Given the description of an element on the screen output the (x, y) to click on. 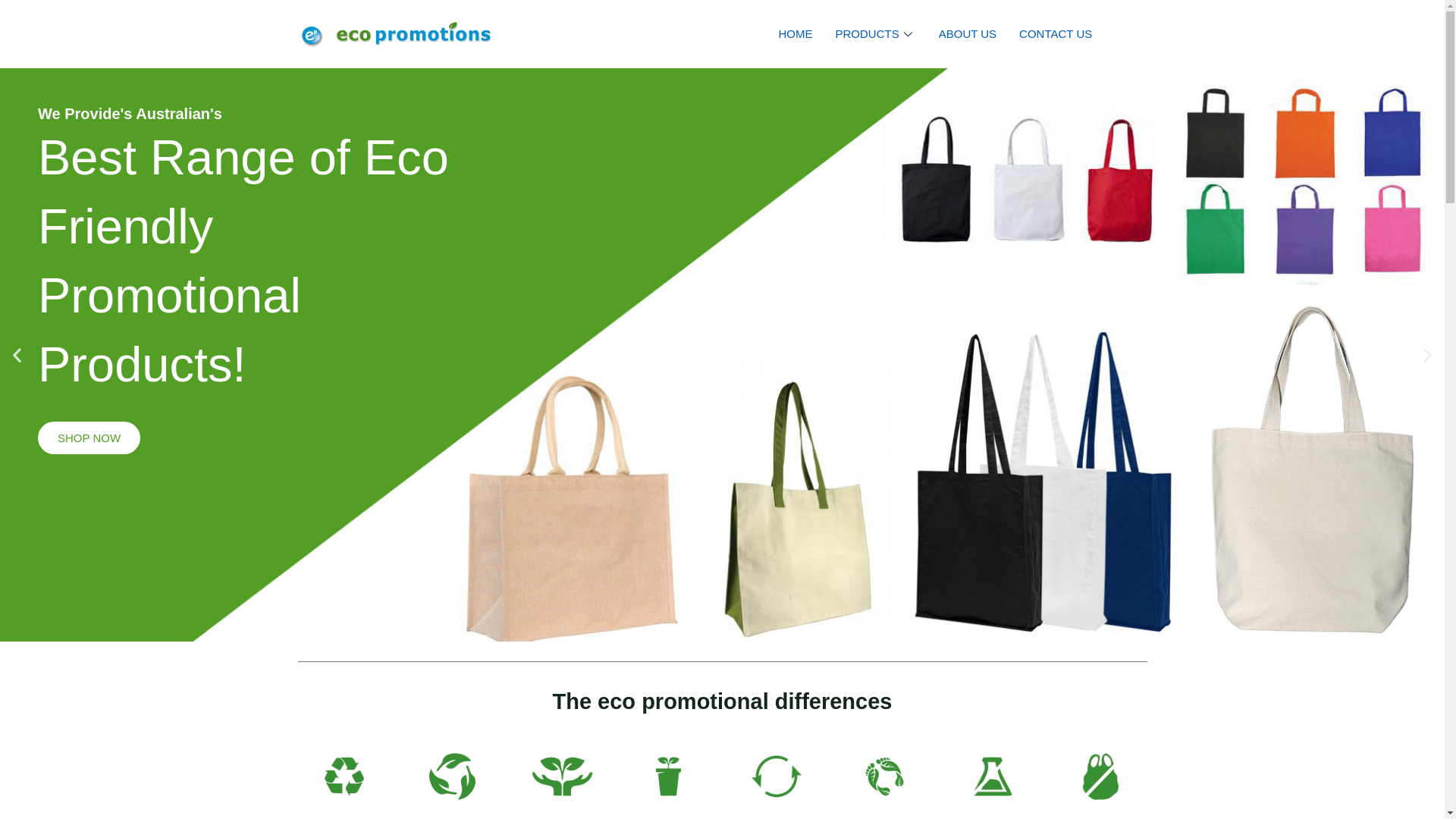
ABOUT US Element type: text (967, 33)
PRODUCTS Element type: text (875, 33)
CONTACT US Element type: text (1055, 33)
HOME Element type: text (795, 33)
